Given the description of an element on the screen output the (x, y) to click on. 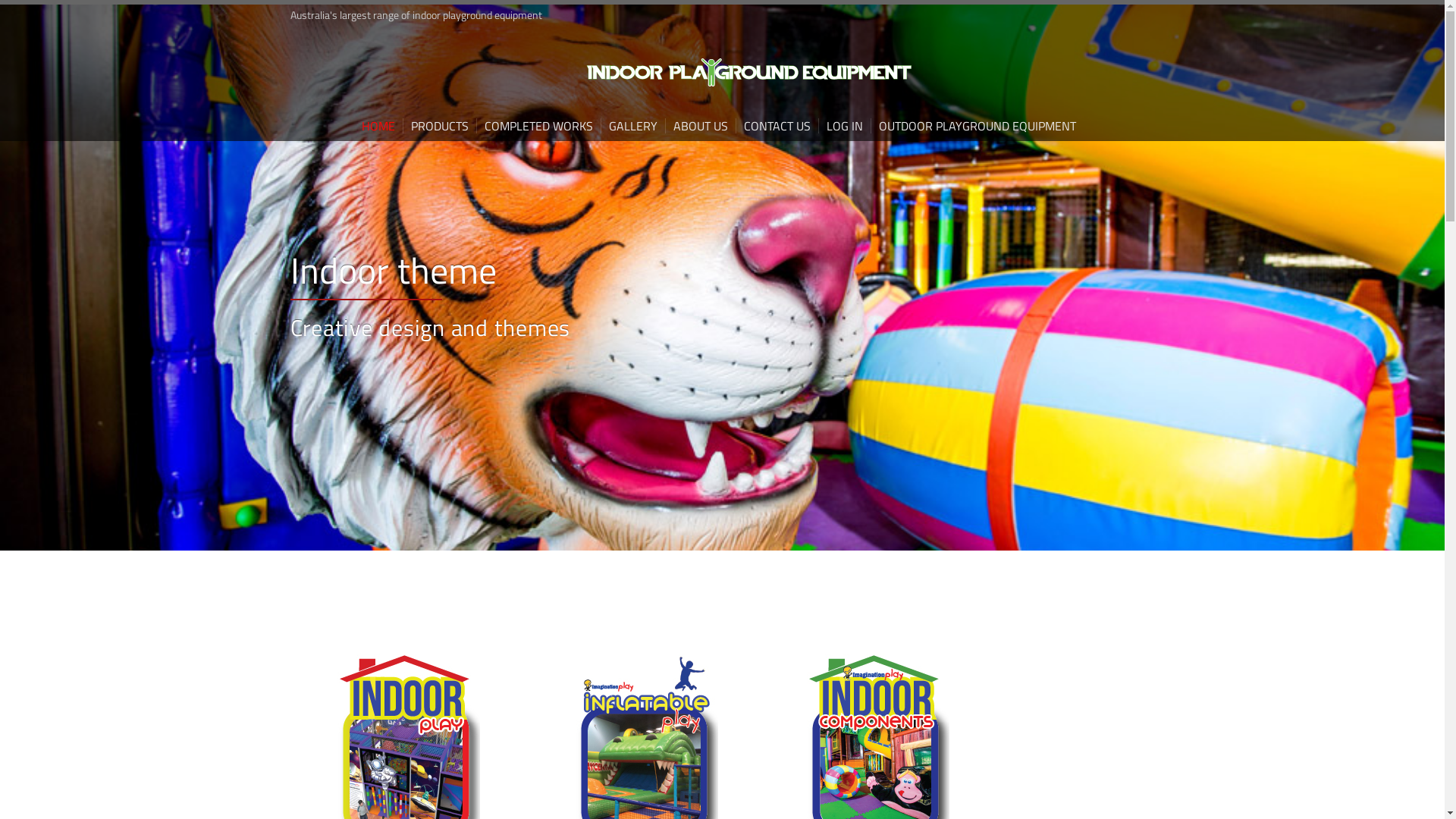
ABOUT US Element type: text (699, 125)
CONTACT US Element type: text (776, 125)
OUTDOOR PLAYGROUND EQUIPMENT Element type: text (976, 125)
GALLERY Element type: text (632, 125)
LOG IN Element type: text (843, 125)
PRODUCTS Element type: text (438, 125)
COMPLETED WORKS Element type: text (538, 125)
HOME Element type: text (380, 125)
